Given the description of an element on the screen output the (x, y) to click on. 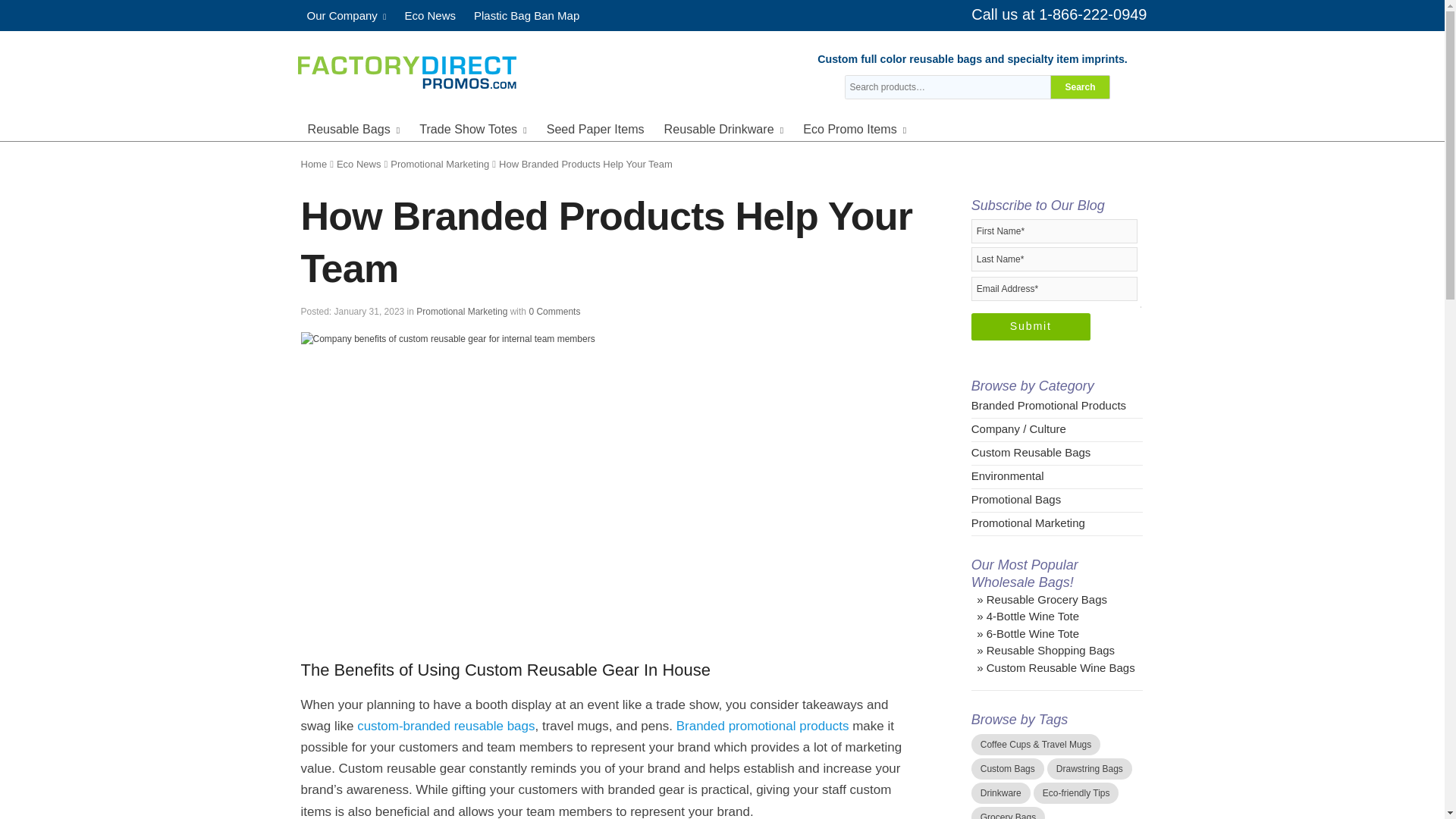
Home (312, 163)
Reusable Bags (353, 127)
Eco Promo Items (854, 127)
Our Company (345, 15)
Reusable Bags Wholesale - Factory Direct Promos (406, 70)
Eco News (429, 15)
Seed Paper Items (595, 127)
Trade Show Totes (472, 127)
Reusable Drinkware (724, 127)
Promotional Marketing (439, 163)
